Given the description of an element on the screen output the (x, y) to click on. 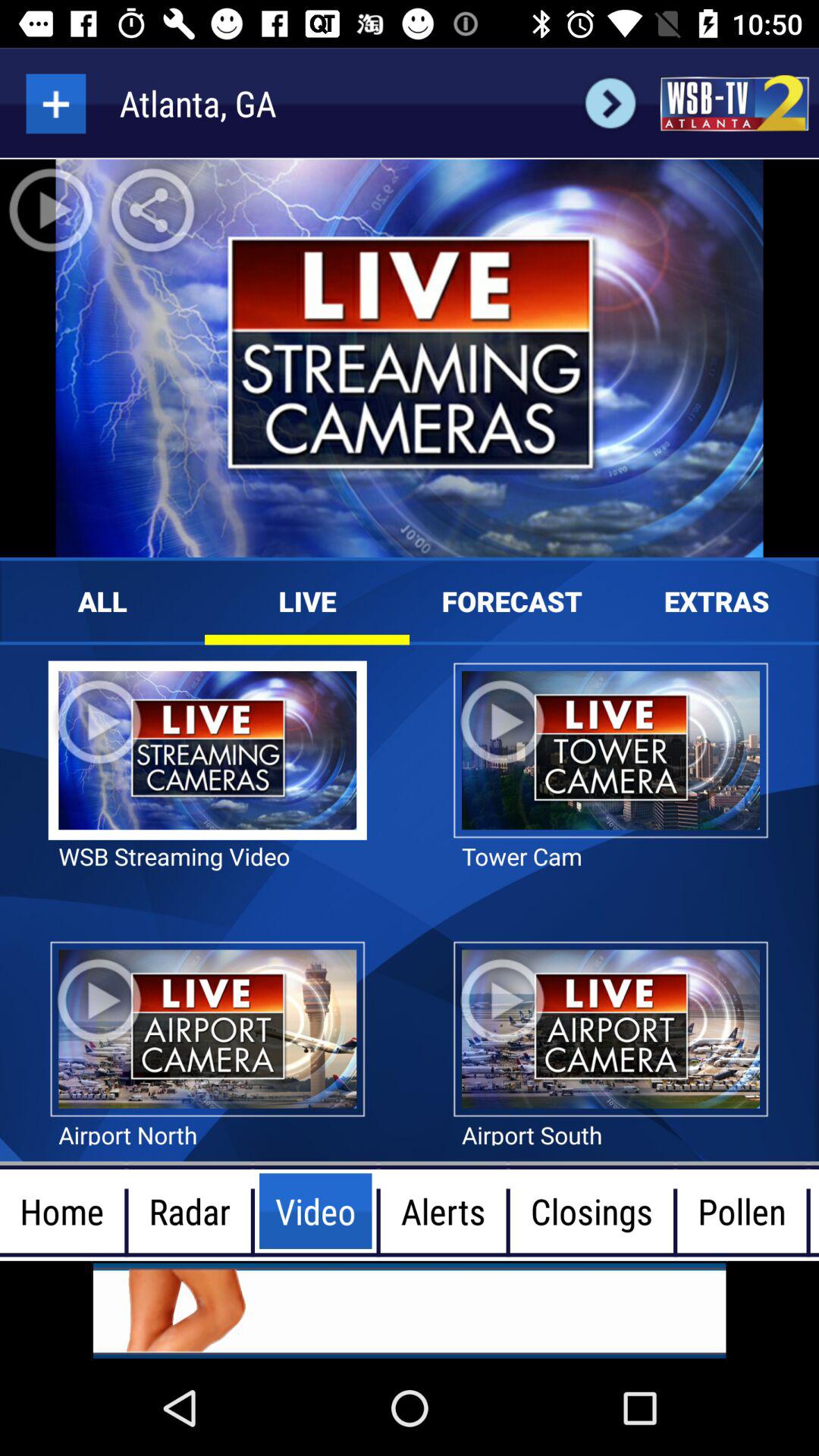
add streaming camera (55, 103)
